Given the description of an element on the screen output the (x, y) to click on. 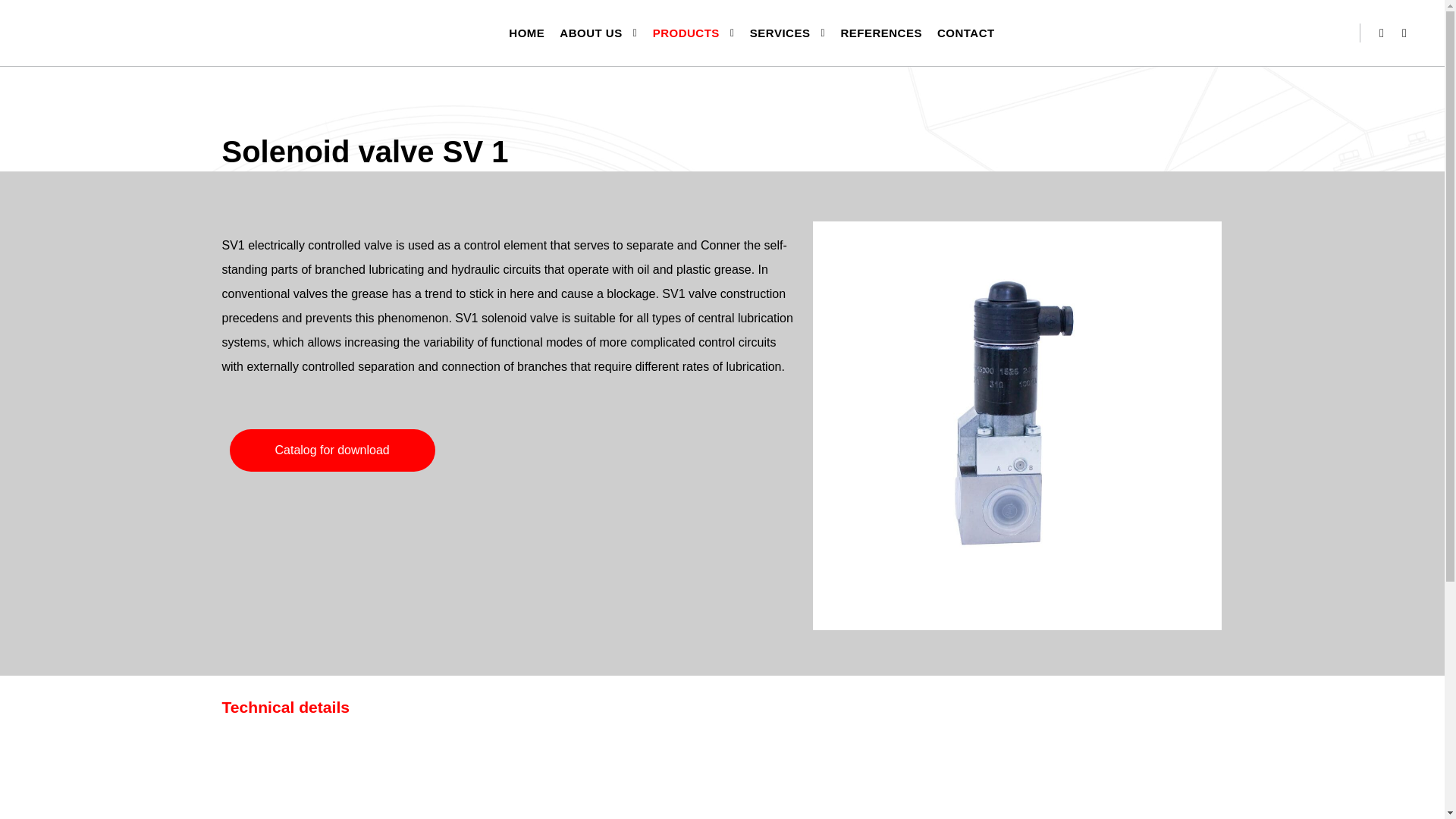
ABOUT US (587, 33)
Linkedin (1381, 33)
PRODUCTS (683, 33)
YouTube (1403, 33)
